Given the description of an element on the screen output the (x, y) to click on. 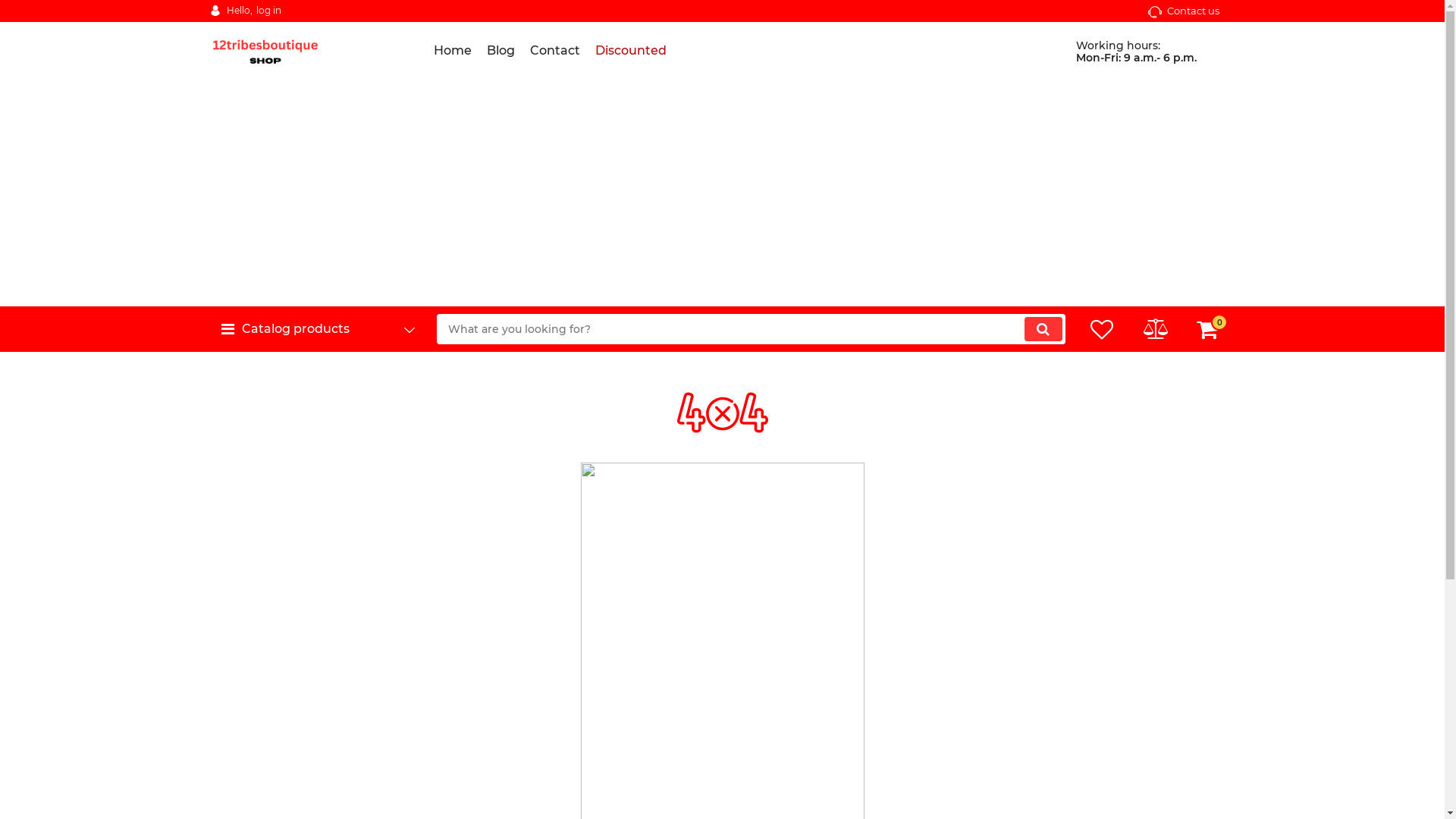
Contact Element type: text (553, 50)
Blog Element type: text (500, 50)
Home Element type: text (452, 50)
Contact us Element type: text (1182, 10)
Discounted Element type: text (629, 50)
Hello,
log in Element type: text (244, 10)
Advertisement Element type: hover (721, 192)
